Given the description of an element on the screen output the (x, y) to click on. 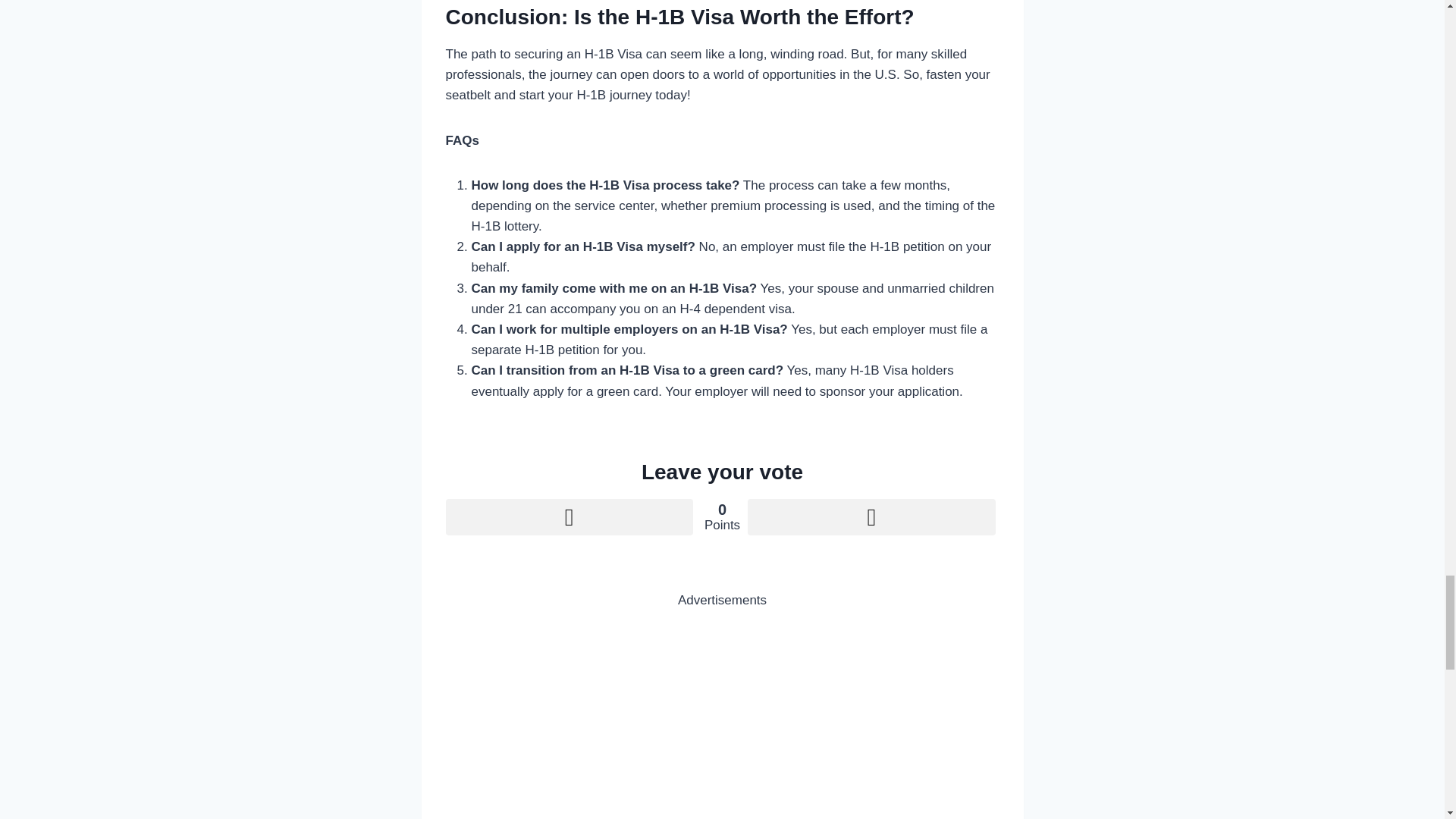
Upvote (569, 516)
Upvote (569, 516)
Downvote (871, 516)
Downvote (871, 516)
